Given the description of an element on the screen output the (x, y) to click on. 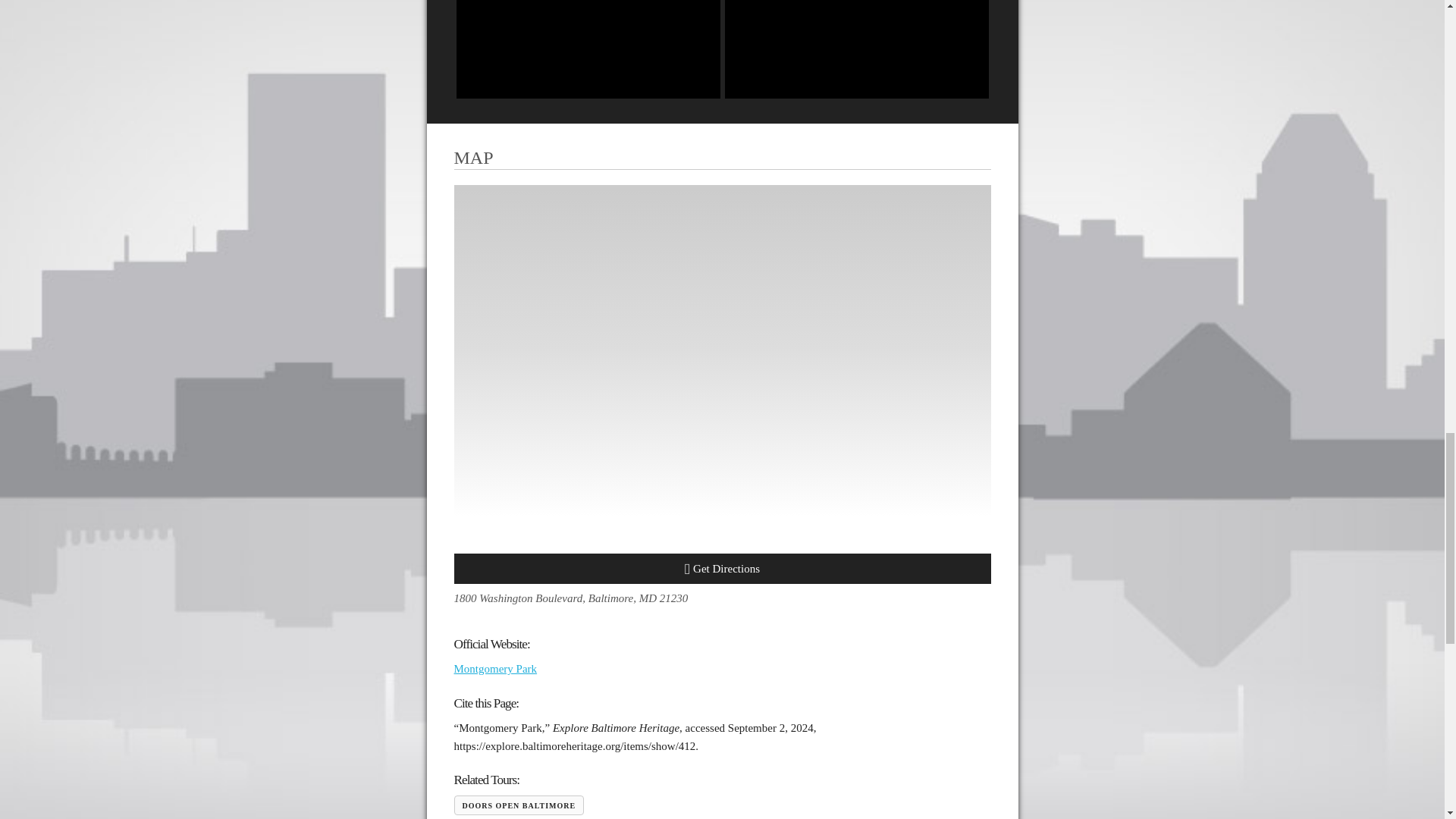
Montgomery Park (494, 668)
DOORS OPEN BALTIMORE (517, 804)
Back, Montgomery Ward Building (588, 49)
Get Directions (721, 568)
Back, Montgomery Ward Building (856, 49)
Get Directions on Google Maps (721, 568)
